Given the description of an element on the screen output the (x, y) to click on. 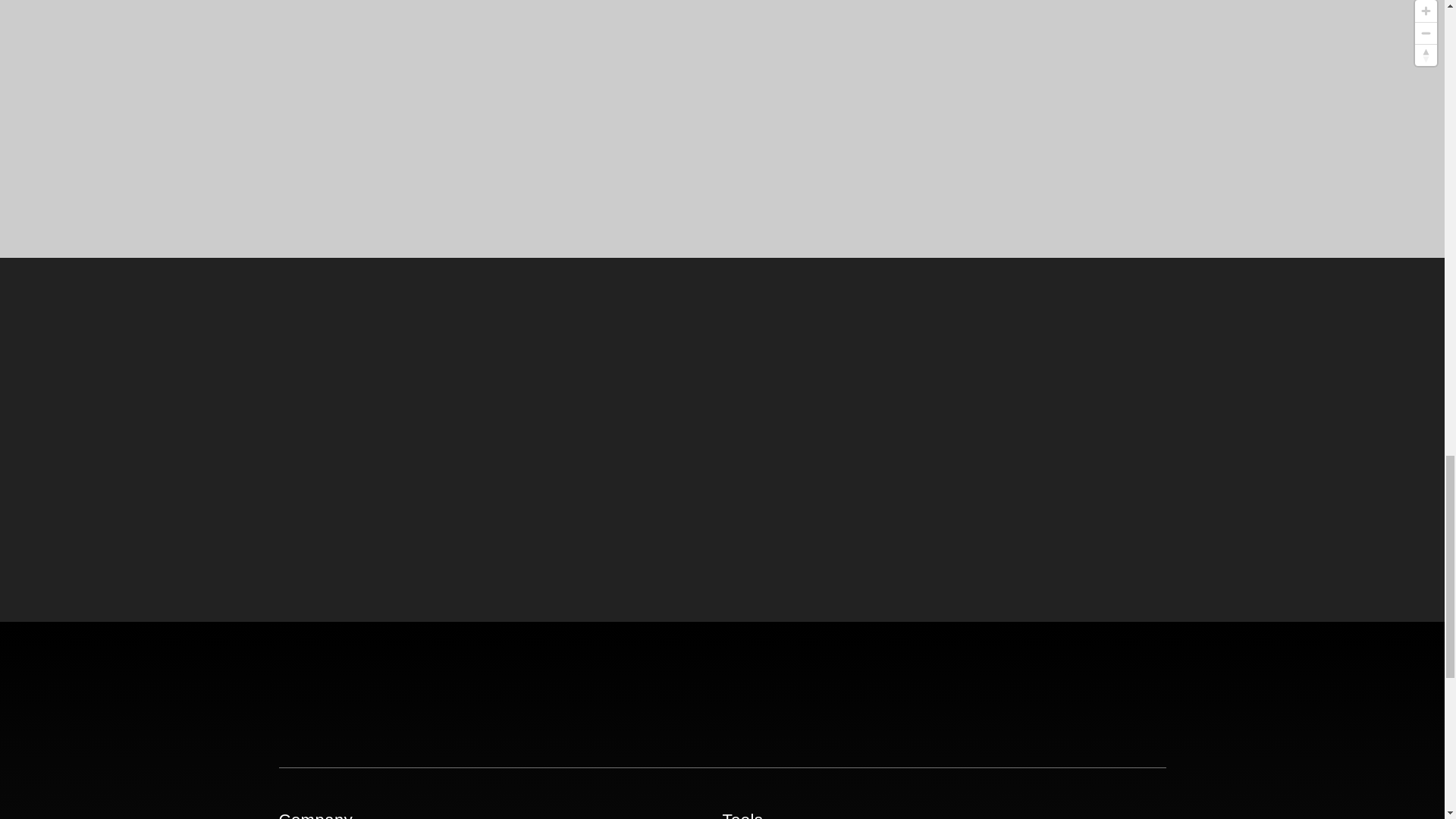
Reset bearing to north (1426, 55)
Zoom in (1426, 11)
Zoom out (1426, 33)
